Given the description of an element on the screen output the (x, y) to click on. 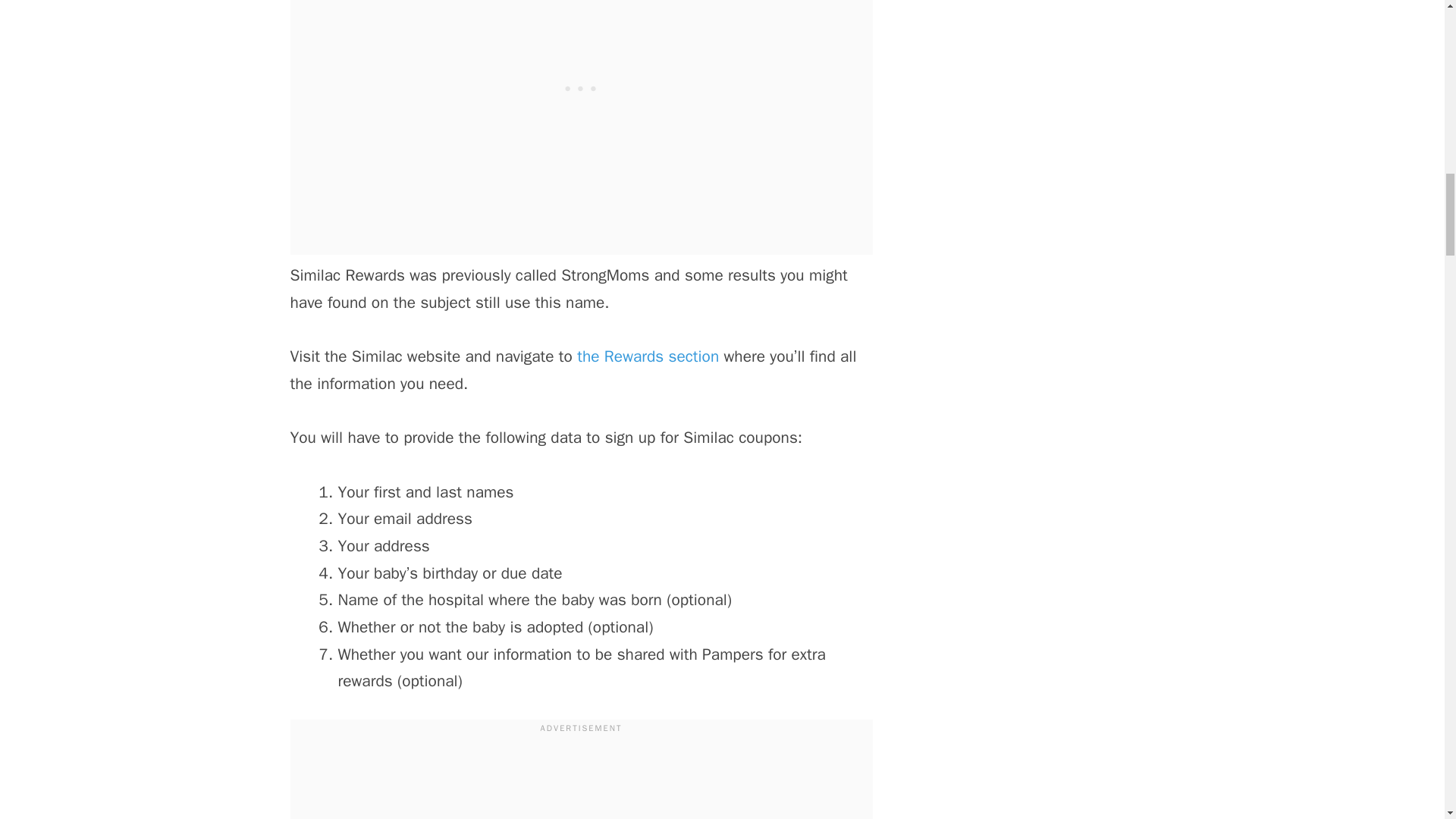
the Rewards section (647, 356)
